Given the description of an element on the screen output the (x, y) to click on. 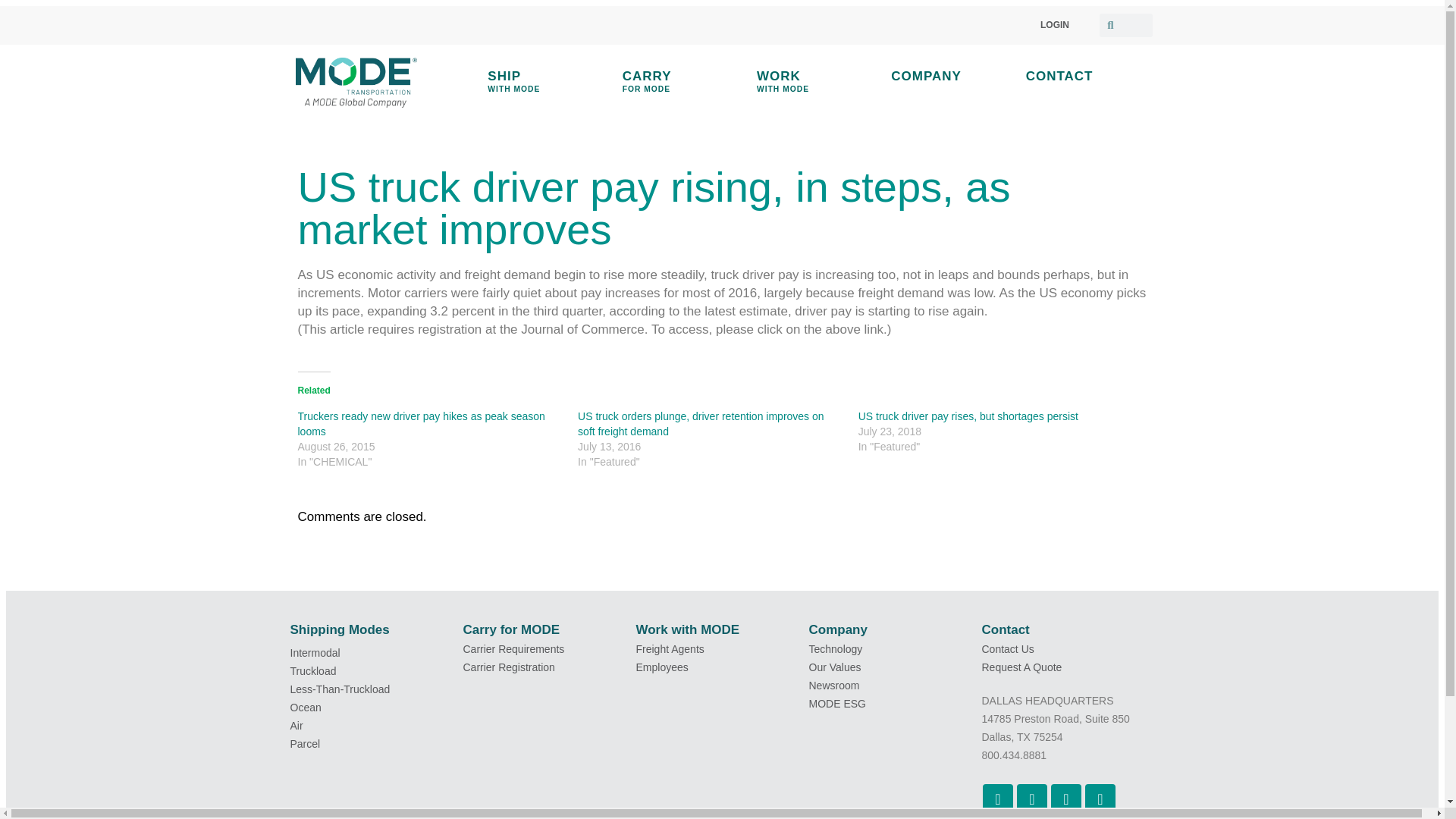
CONTACT (814, 82)
Truckers ready new driver pay hikes as peak season looms (1083, 76)
US truck driver pay rises, but shortages persist (420, 422)
COMPANY (968, 415)
LOGIN (680, 82)
